Given the description of an element on the screen output the (x, y) to click on. 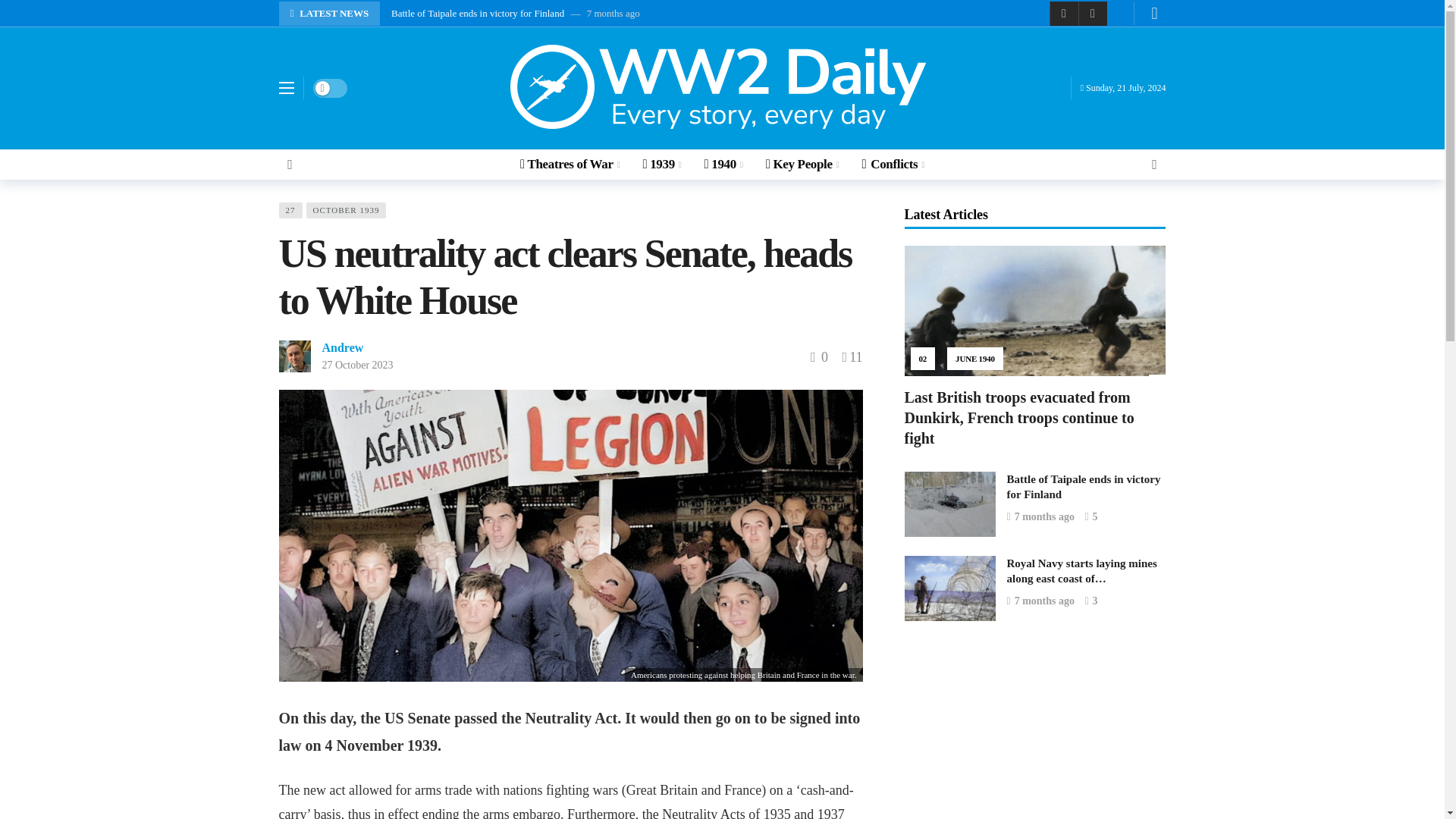
Battle of Taipale ends in victory for Finland (477, 12)
Conflicts (893, 164)
1939 (661, 164)
Theatres of War (569, 164)
Royal Navy starts laying mines along east coast of Britain (1082, 570)
Battle of Taipale ends in victory for Finland (949, 504)
Battle of Taipale ends in victory for Finland (1083, 486)
Royal Navy starts laying mines along east coast of Britain (949, 588)
1940 (723, 164)
Key People (802, 164)
